Given the description of an element on the screen output the (x, y) to click on. 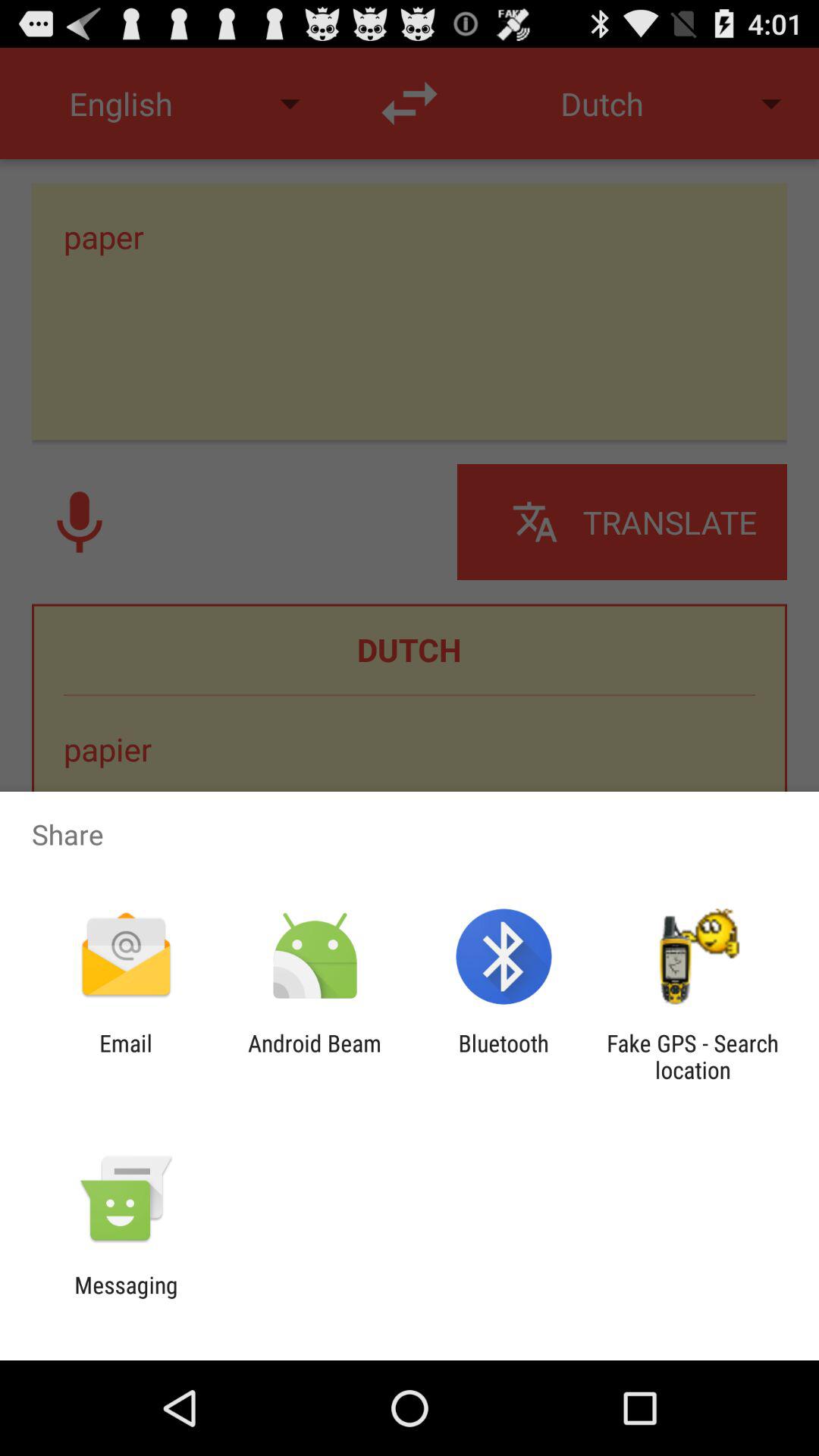
select the item next to fake gps search app (503, 1056)
